Given the description of an element on the screen output the (x, y) to click on. 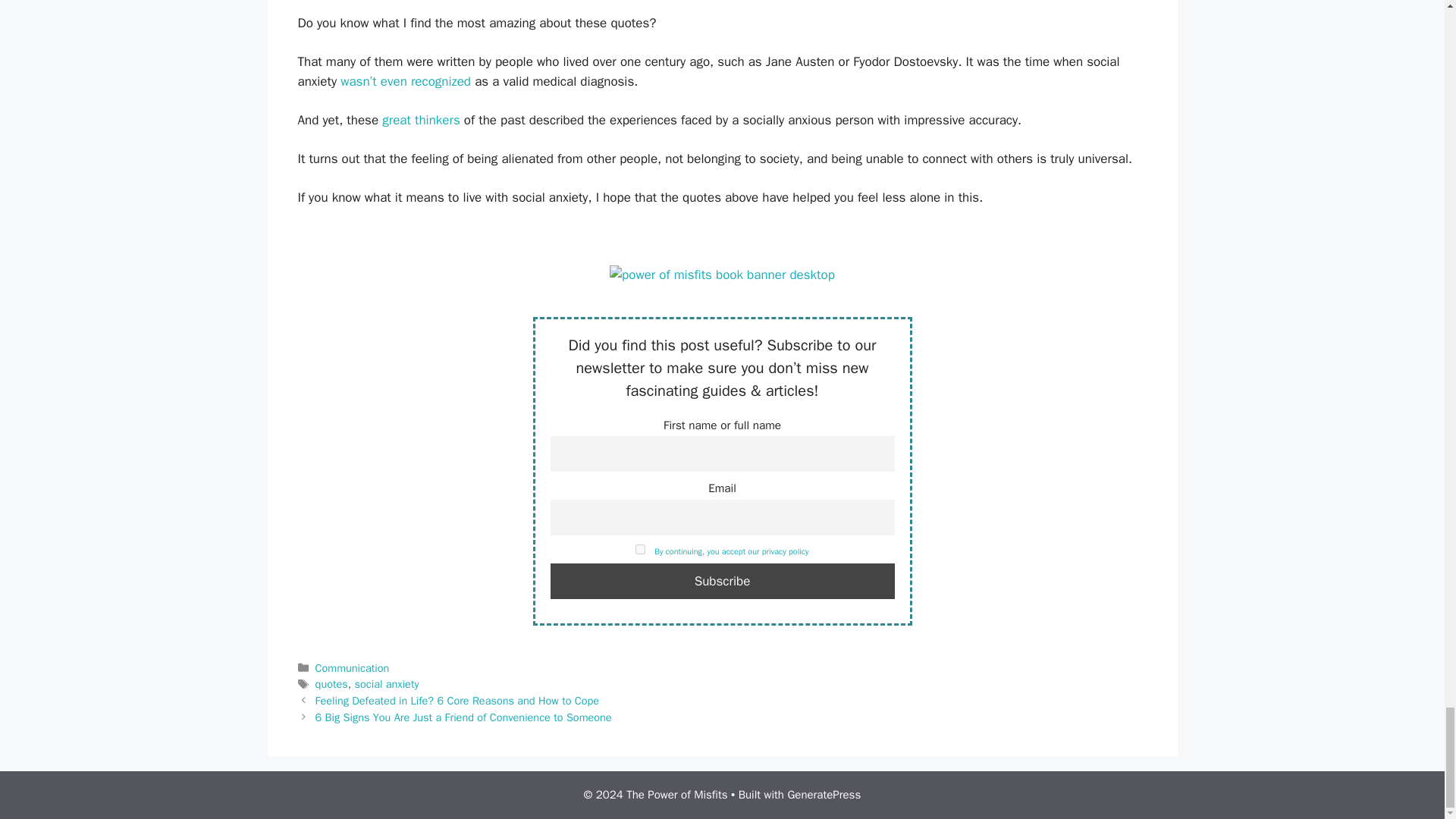
social anxiety (387, 684)
Communication (352, 667)
By continuing, you accept our privacy policy (730, 551)
GeneratePress (823, 794)
on (639, 549)
great thinkers (420, 119)
Subscribe (722, 580)
Feeling Defeated in Life? 6 Core Reasons and How to Cope (457, 700)
Subscribe (722, 580)
6 Big Signs You Are Just a Friend of Convenience to Someone (463, 716)
quotes (331, 684)
